Given the description of an element on the screen output the (x, y) to click on. 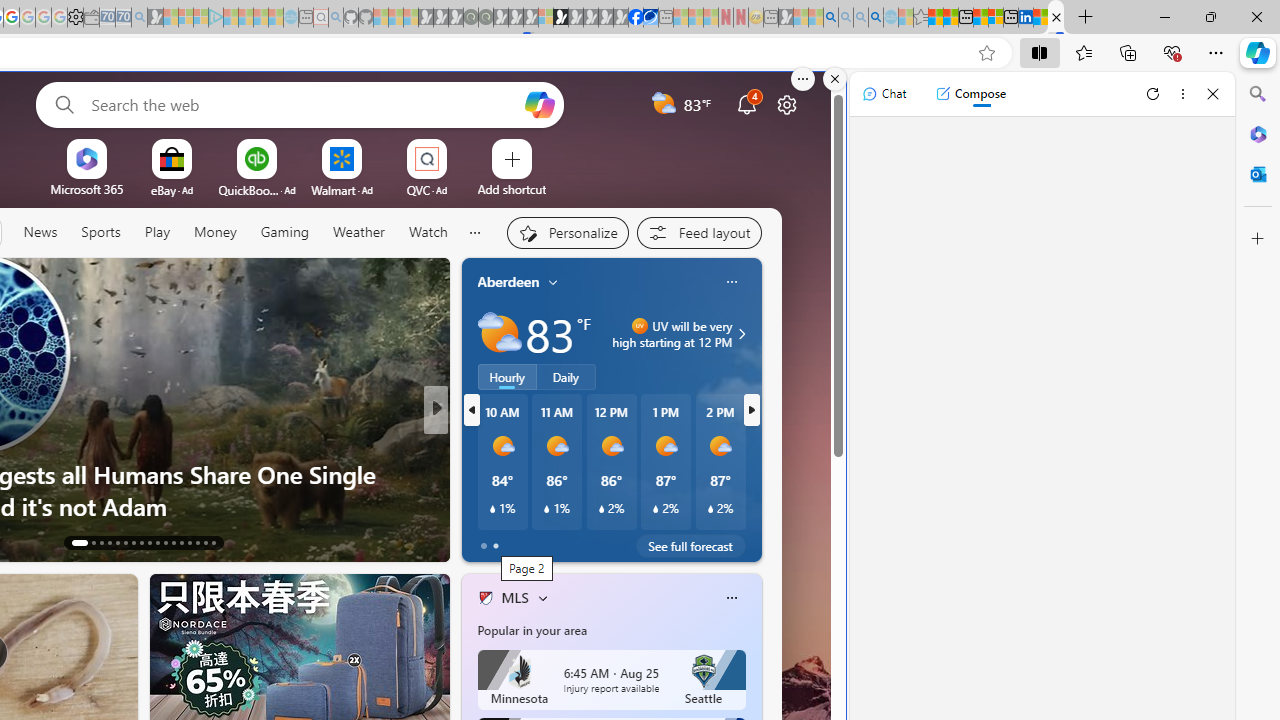
View comments 6 Comment (573, 541)
